Given the description of an element on the screen output the (x, y) to click on. 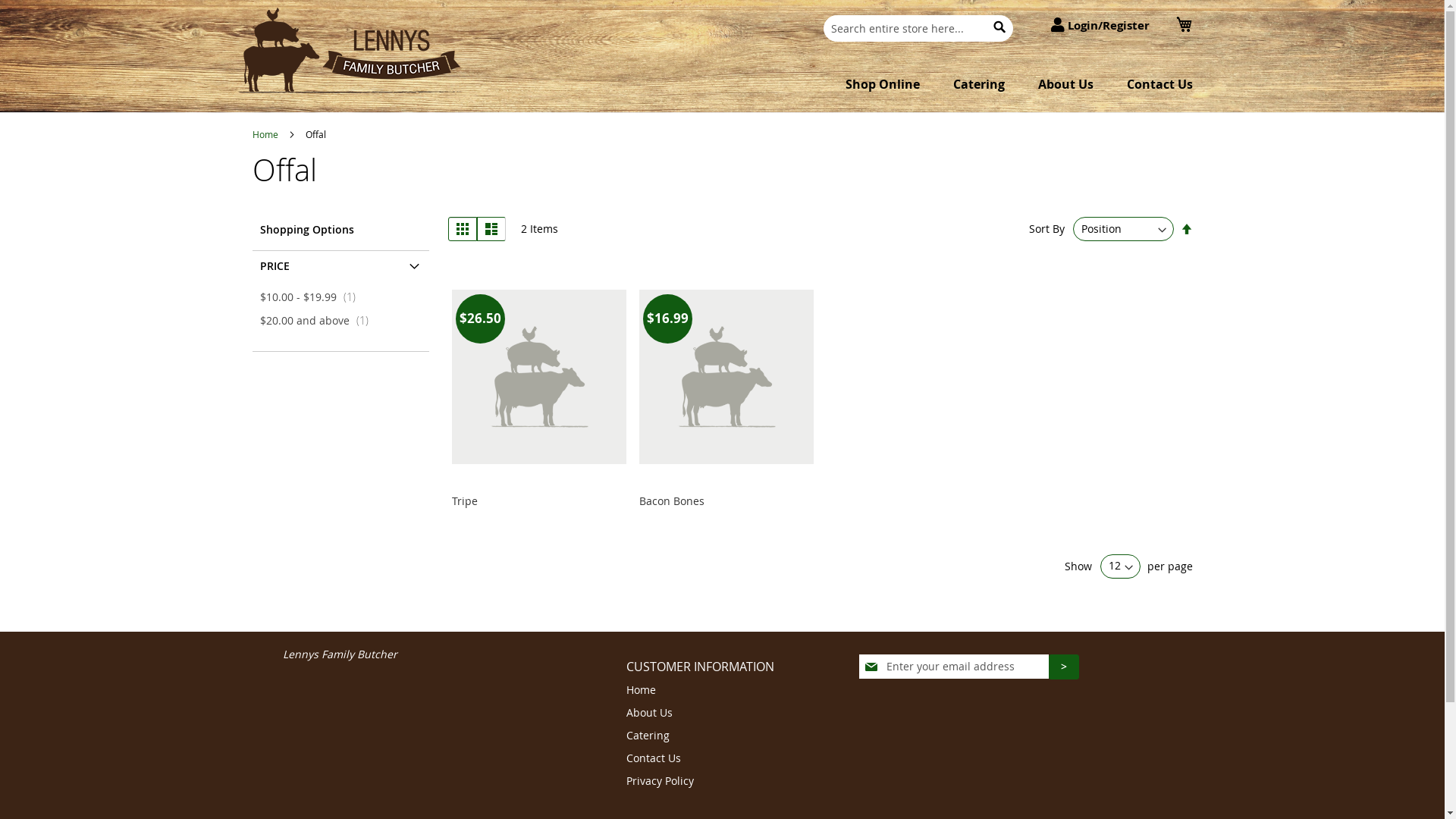
Privacy Policy Element type: text (659, 780)
About Us Element type: text (1064, 83)
Bacon Bones Element type: text (671, 500)
Login/Register Element type: text (1100, 25)
About Us Element type: text (649, 712)
Home Element type: text (640, 689)
Search Element type: text (999, 27)
Set Descending Direction Element type: text (1185, 229)
Catering Element type: text (978, 83)
$10.00 - $19.99 1
item Element type: text (310, 296)
Tripe Element type: text (464, 500)
Contact Us Element type: text (653, 757)
List Element type: text (490, 228)
Shop Online Element type: text (881, 83)
Contact Us Element type: text (1159, 83)
My Cart Element type: text (1183, 24)
$20.00 and above 1
item Element type: text (316, 320)
Home Element type: text (264, 134)
> Element type: text (1063, 666)
Lennys Family Butcher Element type: text (339, 653)
Catering Element type: text (647, 735)
